Given the description of an element on the screen output the (x, y) to click on. 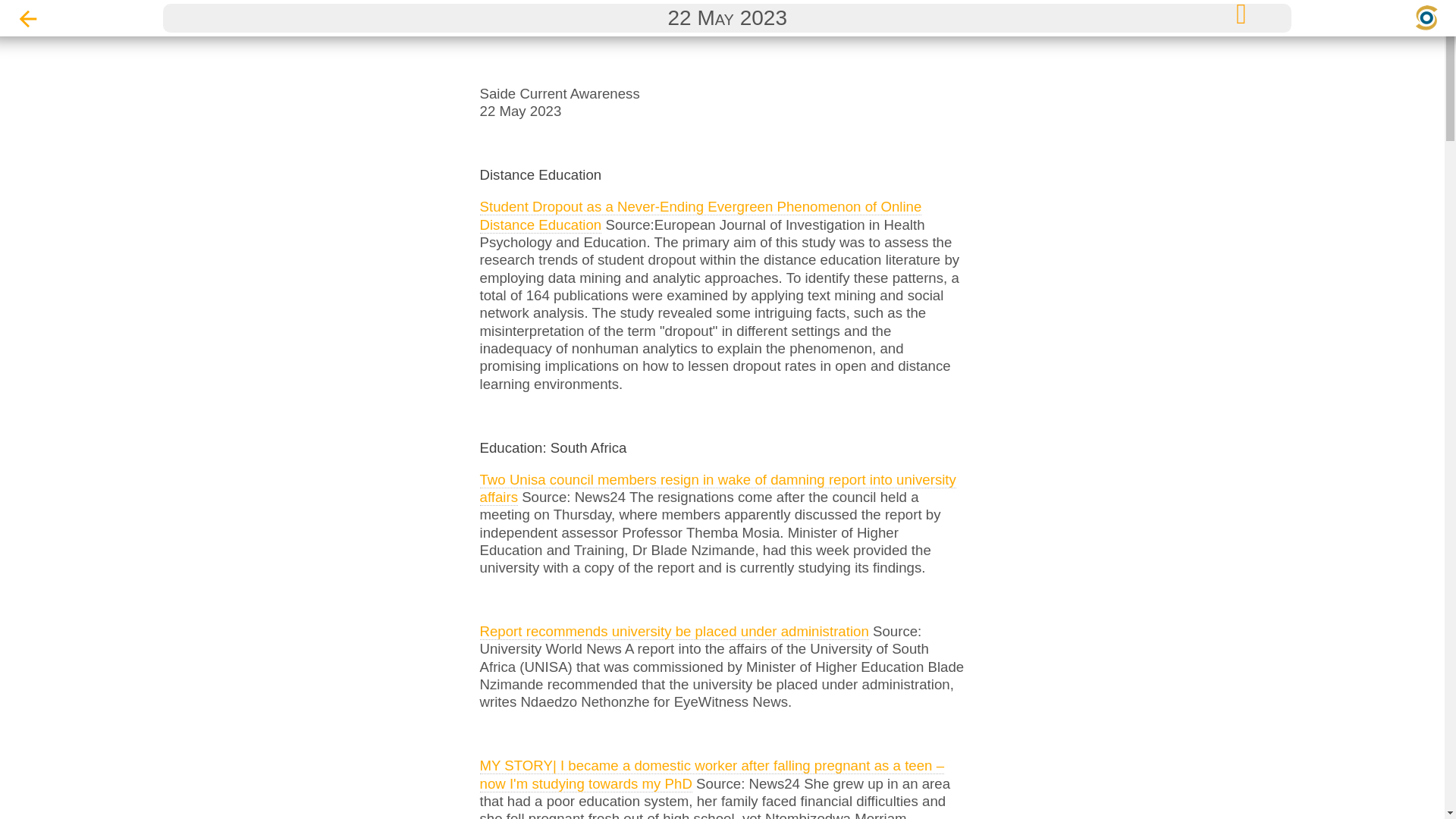
21 November 2023 (721, 494)
01 April 2024 (721, 84)
25 March 2024 (721, 119)
28 November 2023 (721, 460)
26 September 2023 (721, 733)
12 February 2024 (721, 324)
16 April 2024 (721, 17)
02 October 2023 (721, 699)
19 February 2024 (721, 289)
22 January 2024 (721, 426)
13 November 2023 (721, 528)
17 October 2023 (721, 631)
18 March 2024 (721, 153)
08 April 2024 (721, 50)
18 September 2023 (721, 767)
